Given the description of an element on the screen output the (x, y) to click on. 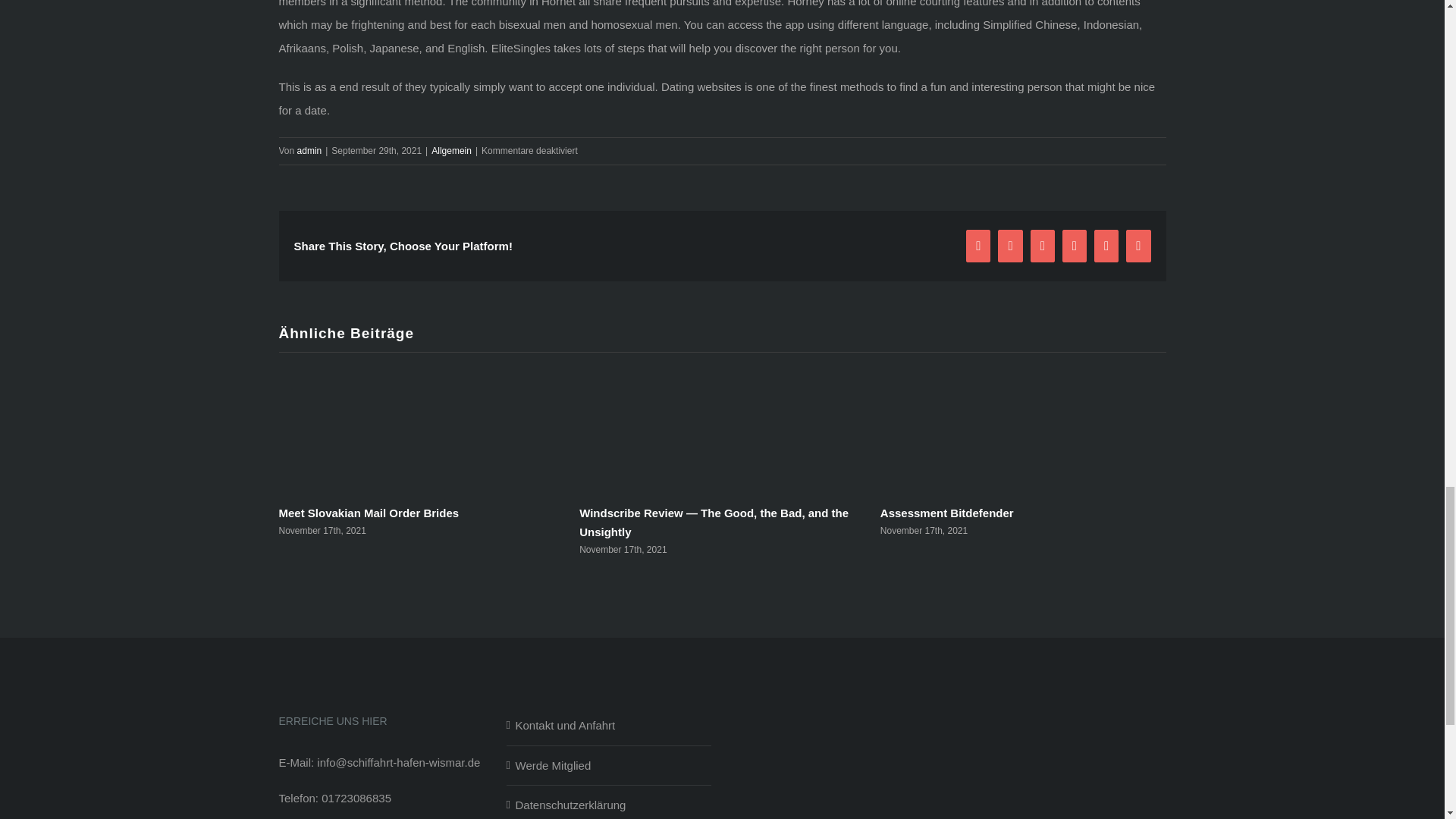
Assessment Bitdefender (946, 512)
Meet Slovakian Mail Order Brides (368, 512)
